Given the description of an element on the screen output the (x, y) to click on. 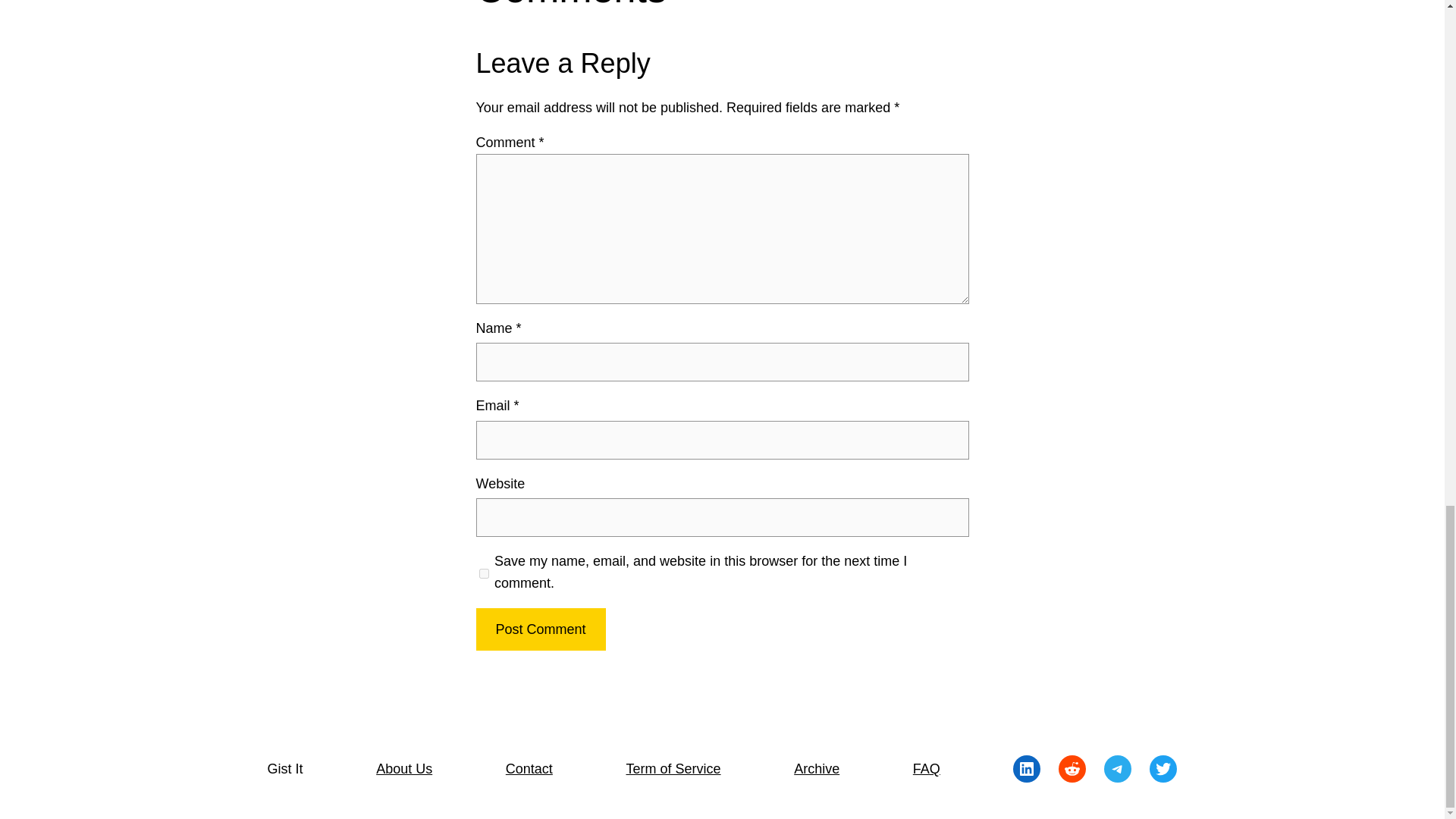
Term of Service (673, 768)
Archive (816, 768)
About Us (403, 768)
Contact (529, 768)
Gist It (284, 768)
Post Comment (540, 629)
FAQ (926, 768)
Post Comment (540, 629)
